Given the description of an element on the screen output the (x, y) to click on. 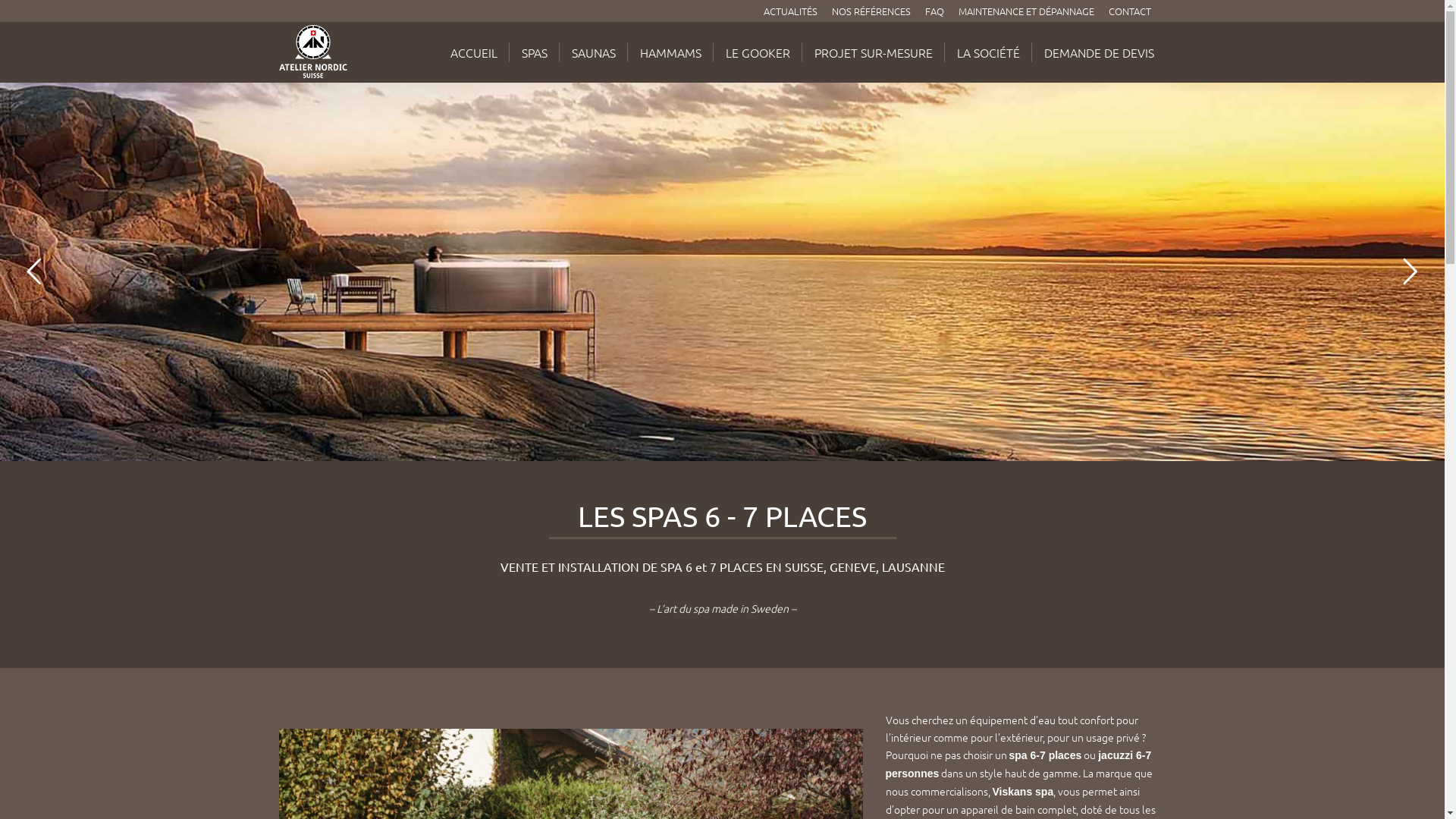
FAQ Element type: text (934, 10)
SPAS Element type: text (534, 51)
HAMMAMS Element type: text (670, 51)
LE GOOKER Element type: text (756, 51)
CONTACT Element type: text (1129, 10)
ACCUEIL Element type: text (473, 51)
PROJET SUR-MESURE Element type: text (873, 51)
DEMANDE DE DEVIS Element type: text (1098, 51)
SAUNAS Element type: text (593, 51)
